Given the description of an element on the screen output the (x, y) to click on. 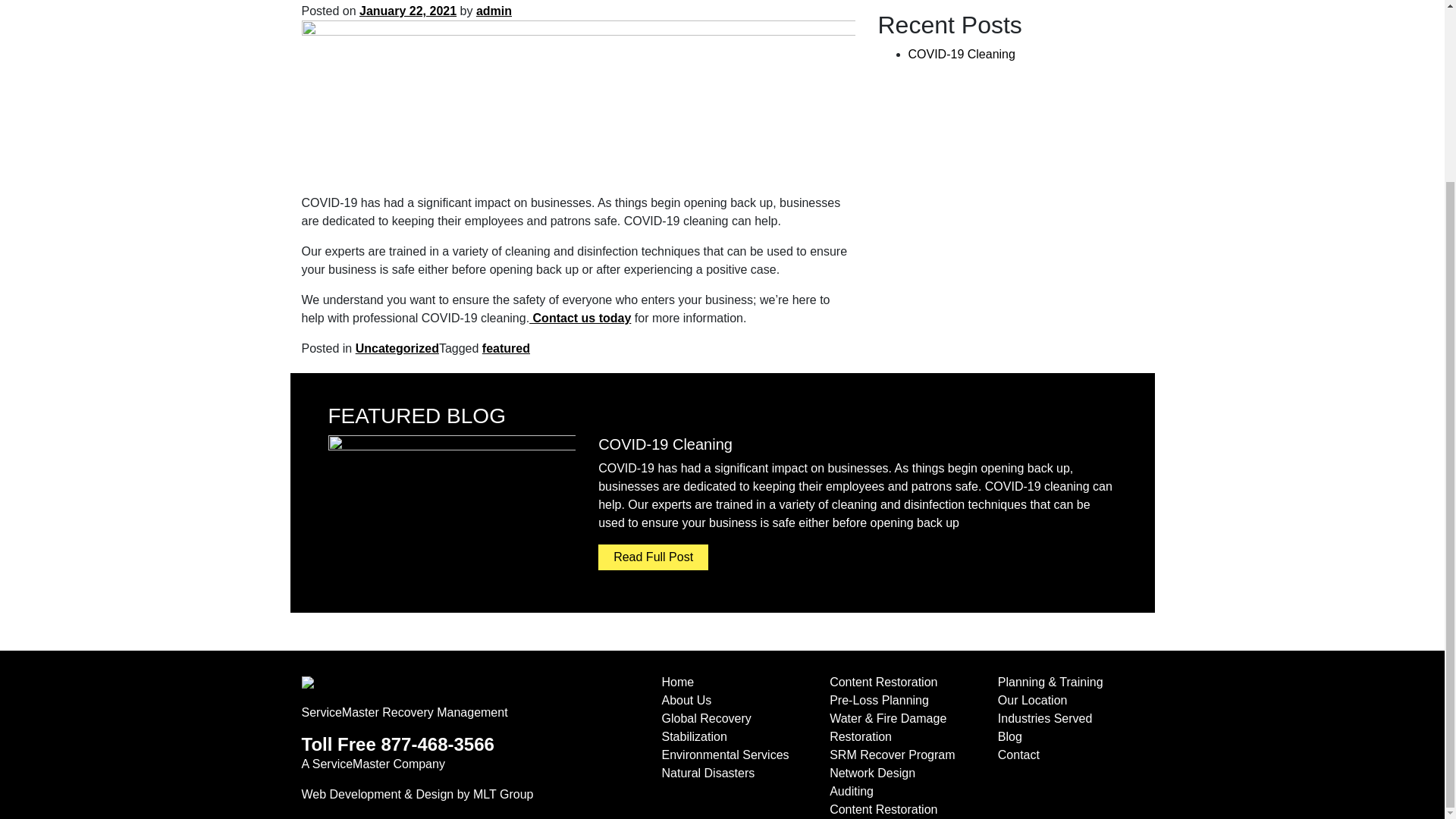
COVID-19 Cleaning (961, 53)
January 22, 2021 (408, 10)
877-468-3566 (436, 743)
Home (677, 681)
featured (505, 348)
Contact us today (579, 318)
MLT Group (502, 793)
COVID-19 Cleaning (665, 443)
Read Full Post (652, 557)
admin (494, 10)
